Given the description of an element on the screen output the (x, y) to click on. 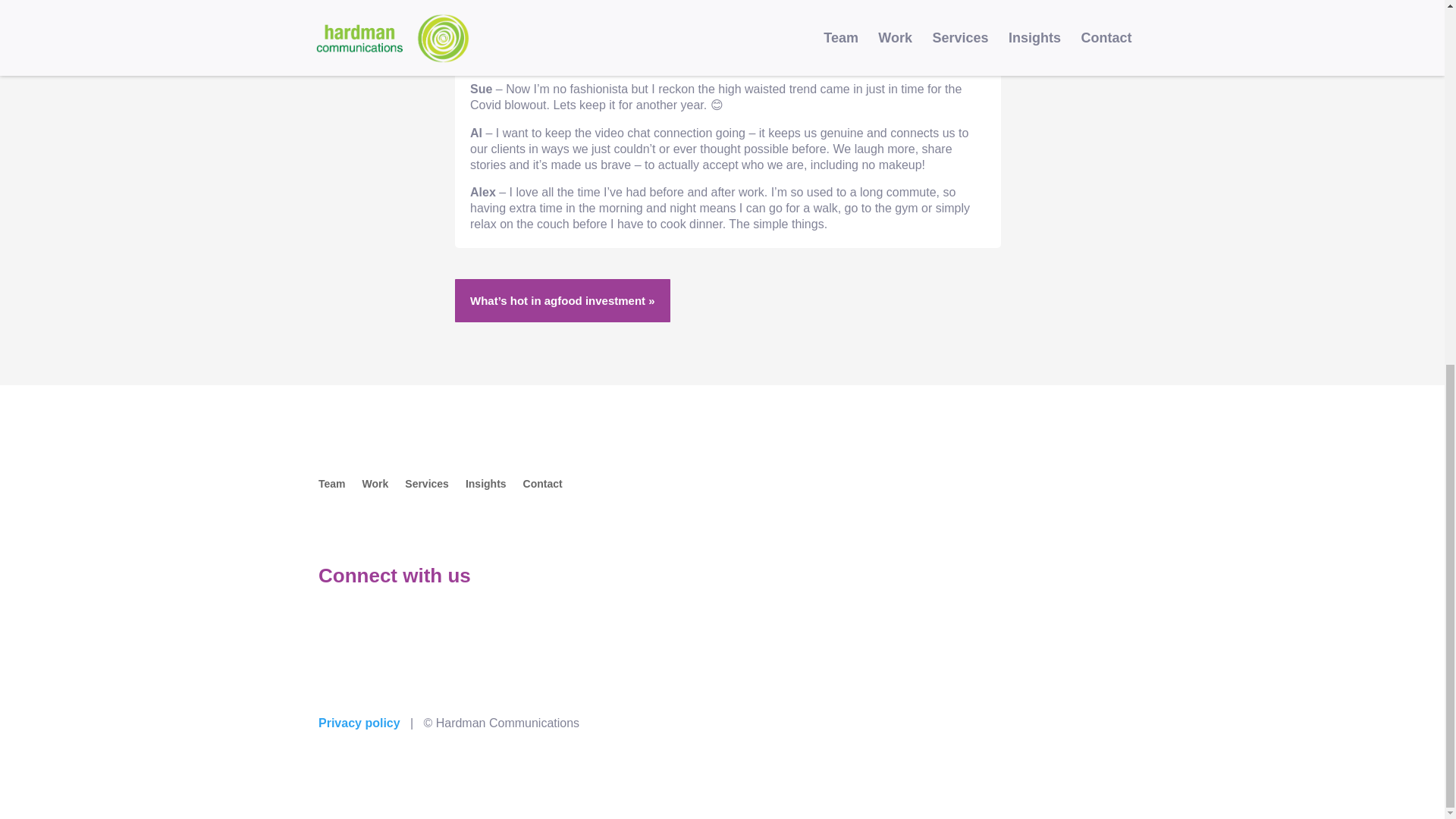
Privacy policy (359, 722)
Contact (542, 486)
Insights (485, 486)
Follow on X (360, 627)
Follow on LinkedIn (330, 627)
Work (375, 486)
Team (332, 486)
Follow on Facebook (390, 627)
Services (426, 486)
Follow on Instagram (421, 627)
